Given the description of an element on the screen output the (x, y) to click on. 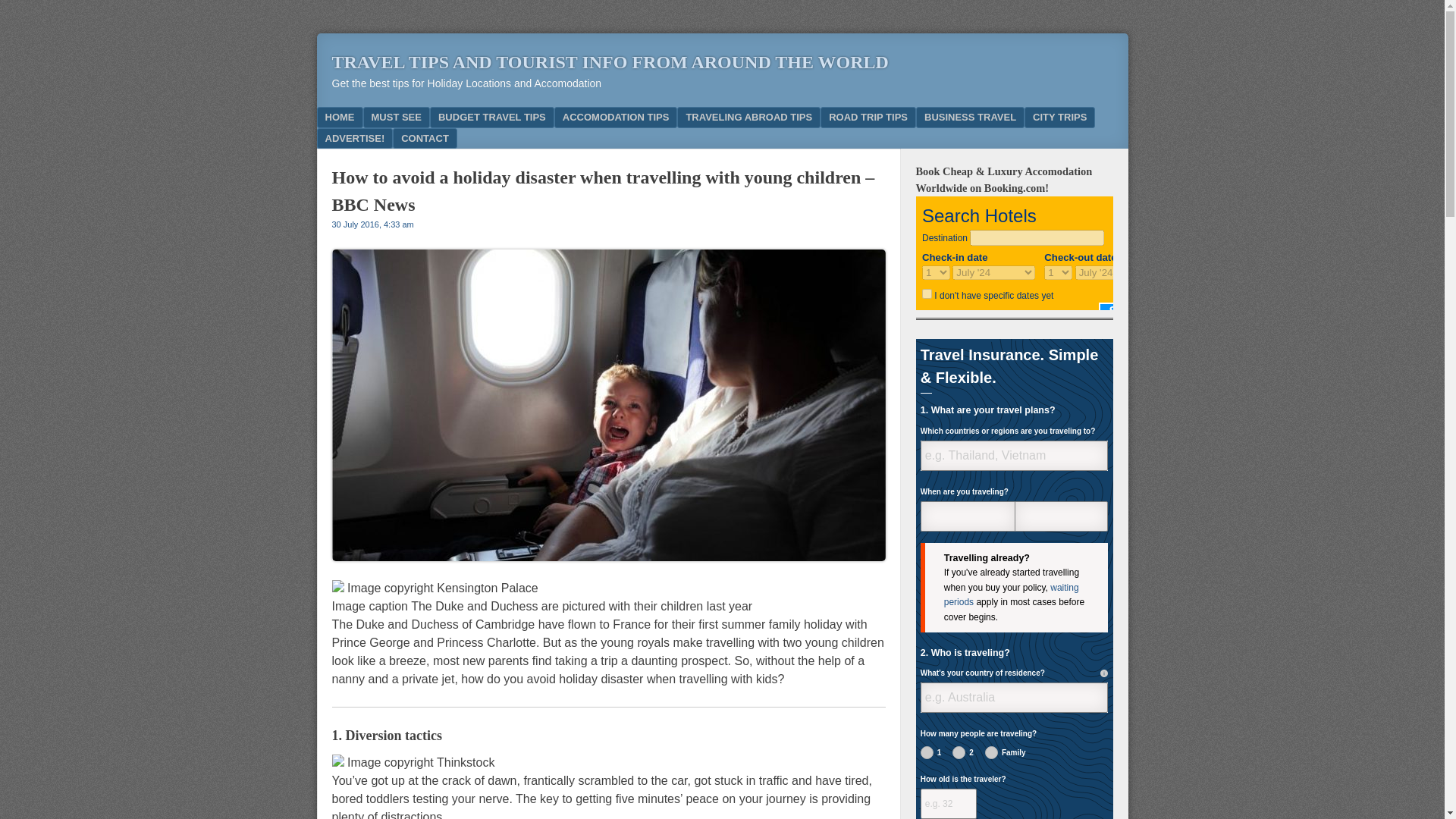
Tips For When Making a Road Trip (868, 117)
Travelling On A Shoe String (491, 117)
Best Business Travel Tips (970, 117)
CITY TRIPS (1059, 117)
Advertise On Our Travel Site! (355, 137)
HOME (339, 117)
waiting periods (1010, 595)
BUSINESS TRAVEL (970, 117)
BUDGET TRAVEL TIPS (491, 117)
TRAVEL TIPS AND TOURIST INFO FROM AROUND THE WORLD (609, 62)
CONTACT (425, 137)
30 July 2016, 4:33 am (372, 224)
ROAD TRIP TIPS (868, 117)
Best Cities In The World To visit (1059, 117)
MUST SEE (395, 117)
